Given the description of an element on the screen output the (x, y) to click on. 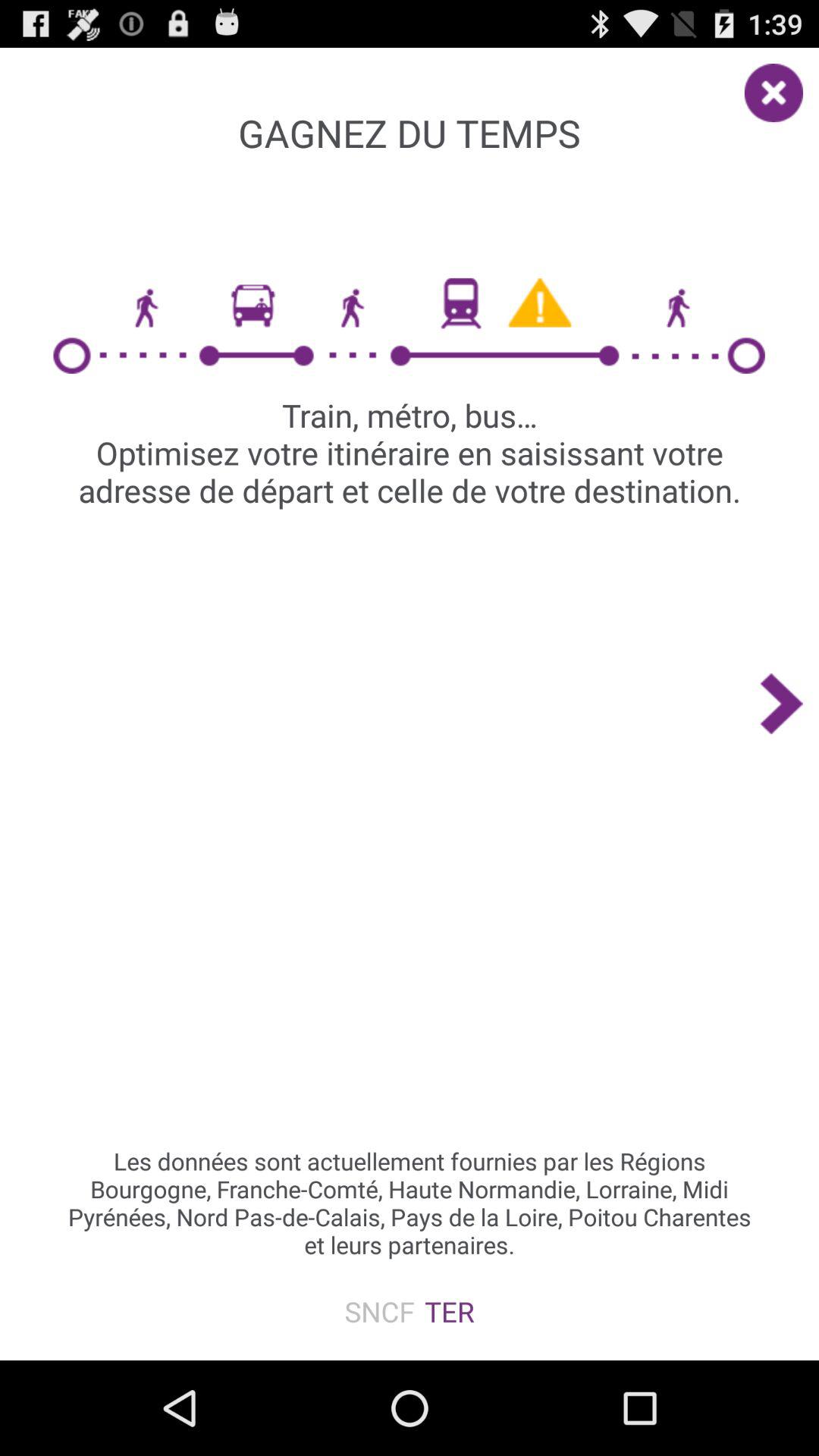
turn off the icon on the right (789, 703)
